Given the description of an element on the screen output the (x, y) to click on. 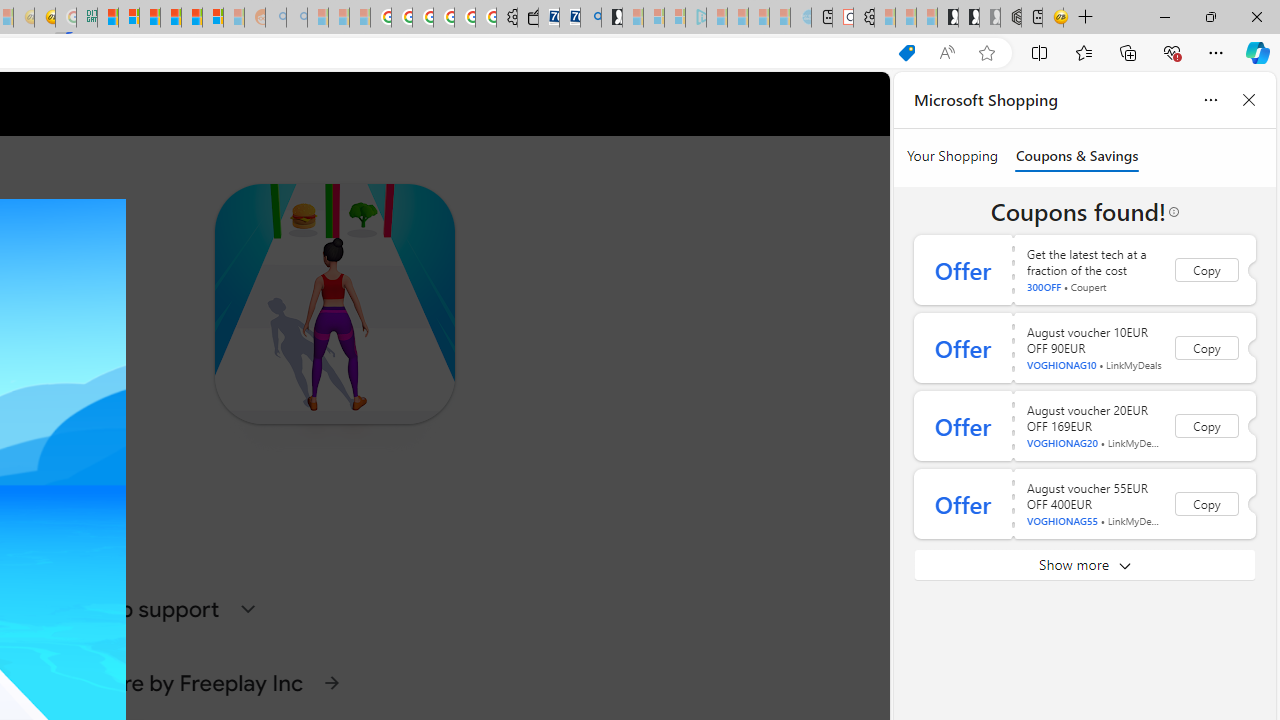
Bing Real Estate - Home sales and rental listings (591, 17)
Expand (248, 608)
